Given the description of an element on the screen output the (x, y) to click on. 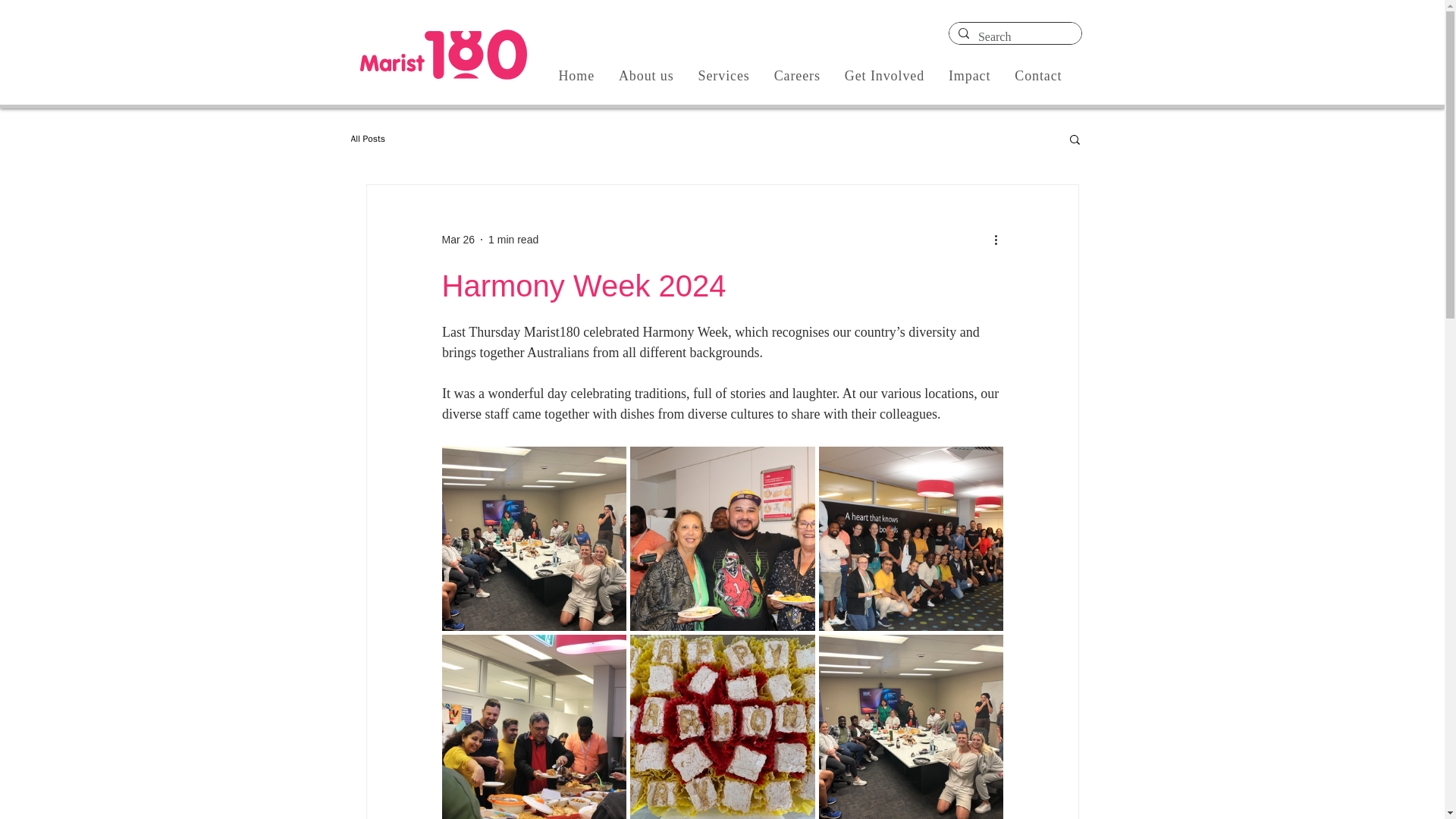
All Posts (367, 137)
Careers (796, 75)
Home (577, 75)
About us (646, 75)
1 min read (512, 239)
Mar 26 (457, 239)
